Given the description of an element on the screen output the (x, y) to click on. 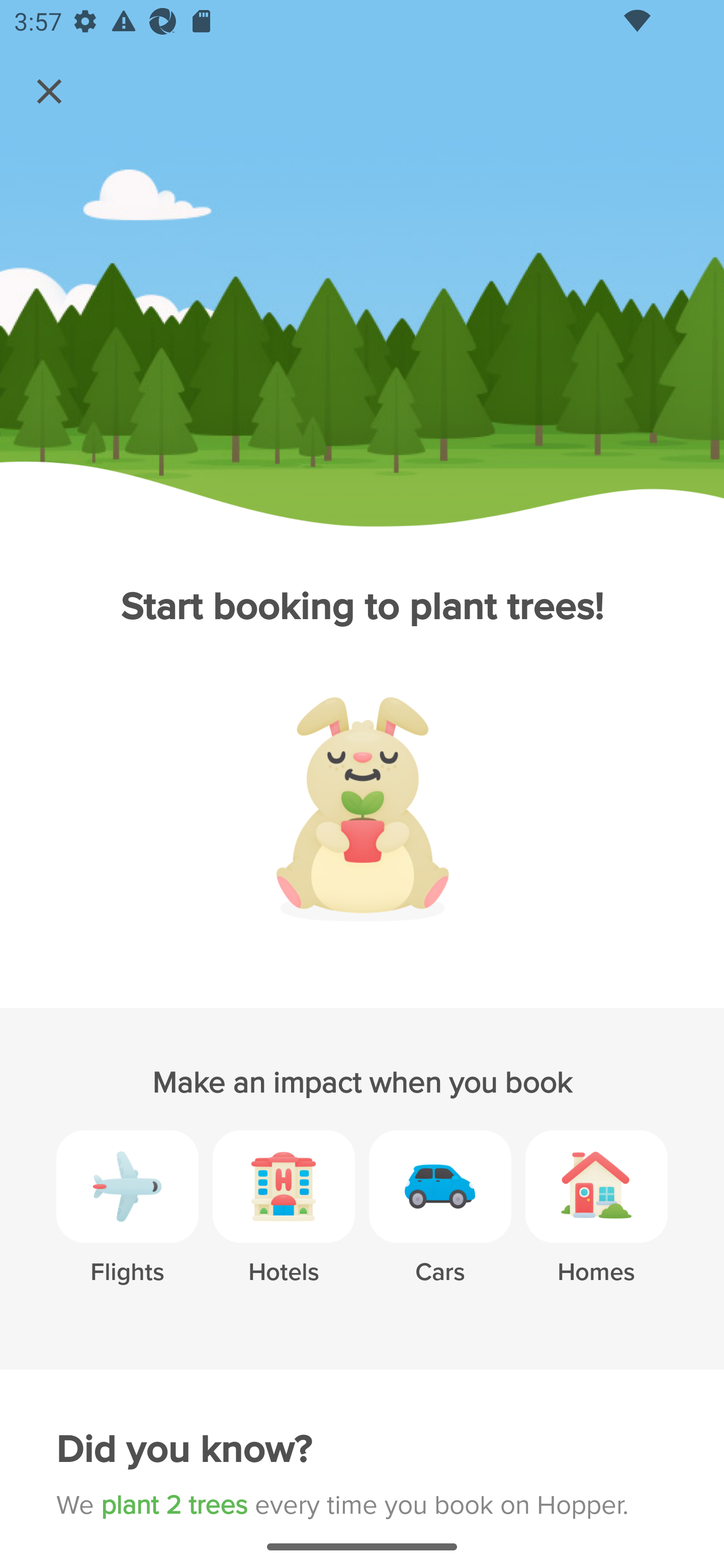
Navigate up (49, 91)
Flights (127, 1221)
Hotels (283, 1221)
Cars (440, 1221)
Homes (596, 1221)
